Given the description of an element on the screen output the (x, y) to click on. 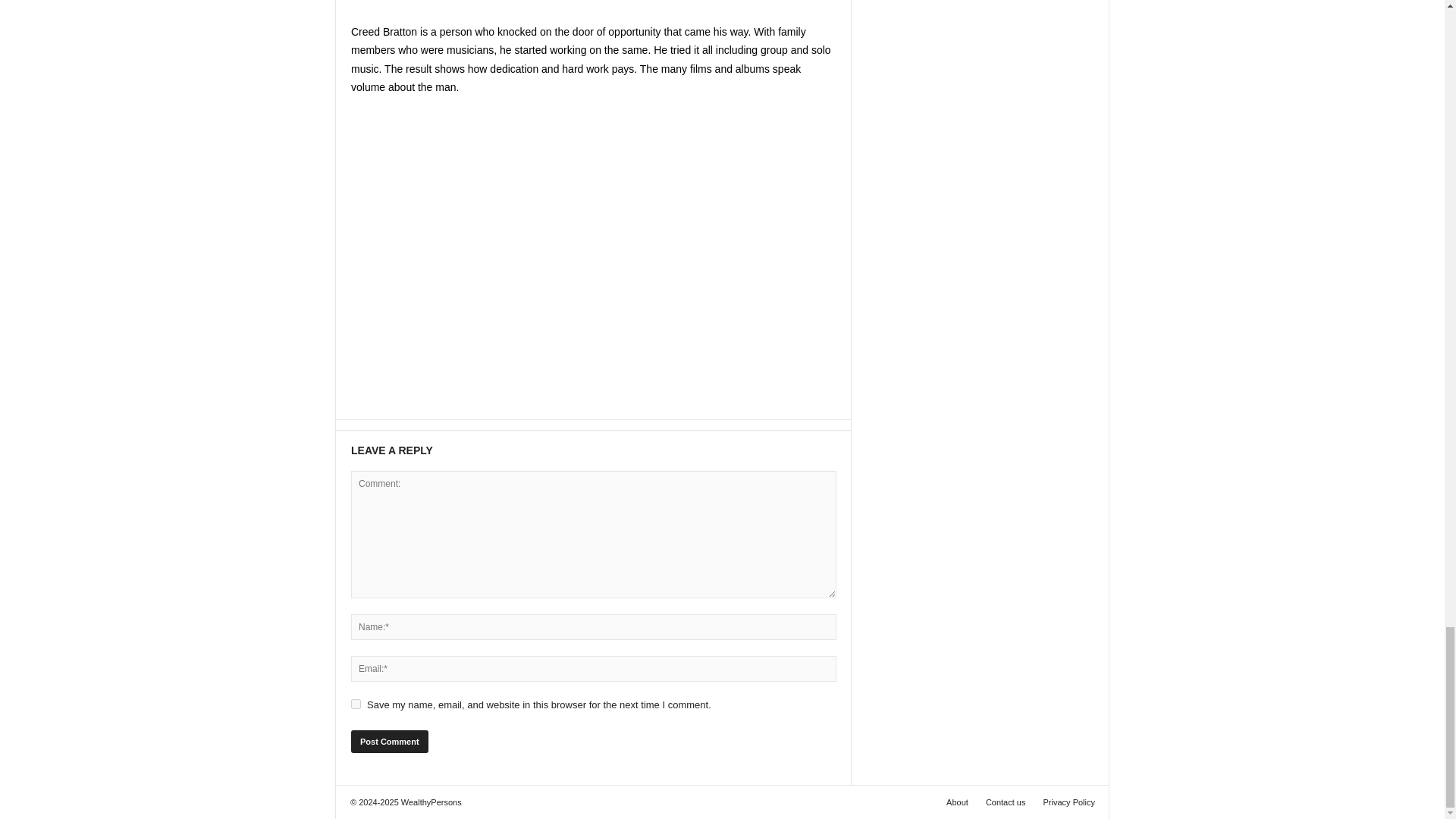
About (957, 801)
Post Comment (389, 741)
yes (355, 704)
Post Comment (389, 741)
Privacy Policy (1064, 801)
Contact us (1005, 801)
